Given the description of an element on the screen output the (x, y) to click on. 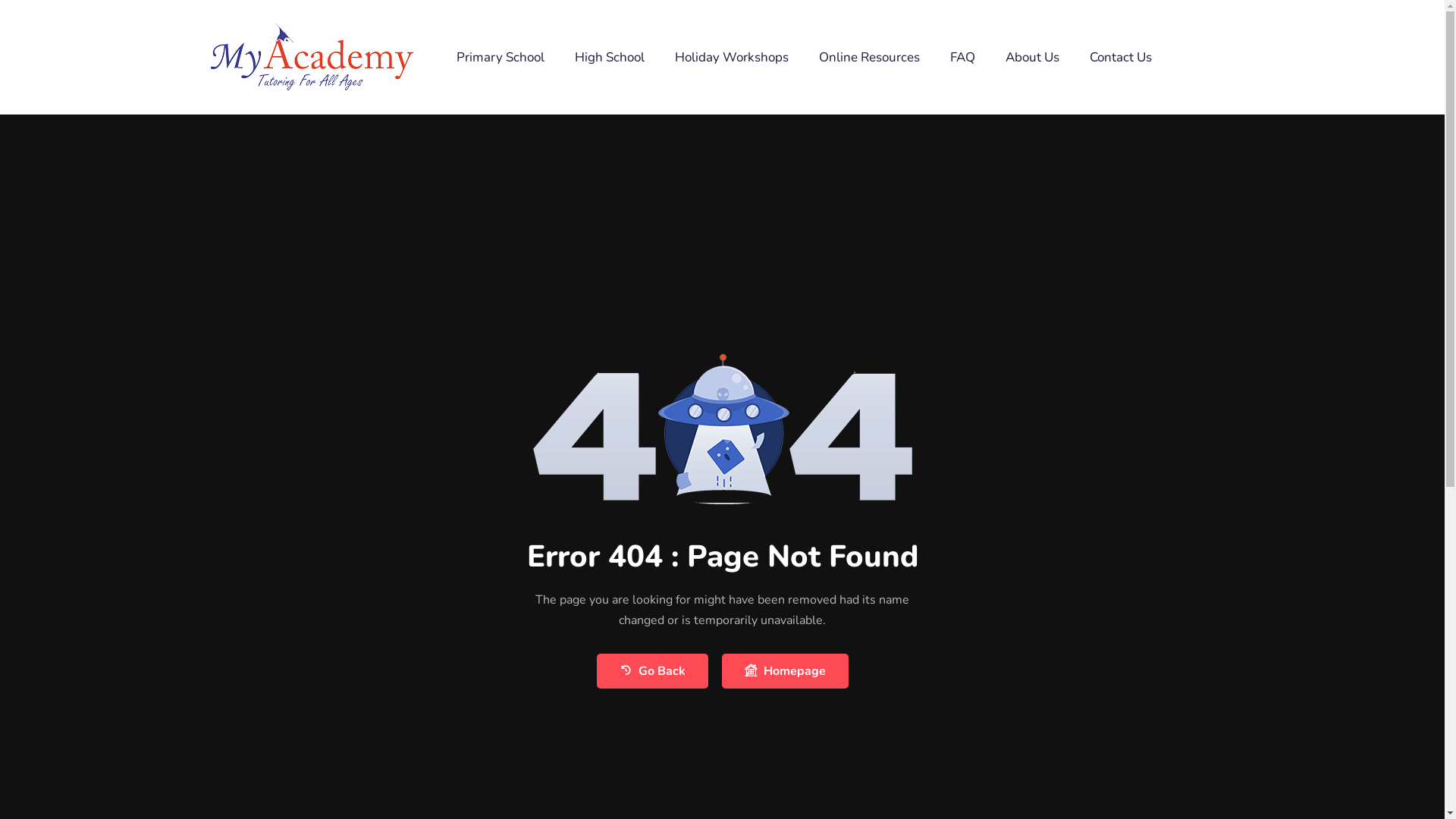
About Us Element type: text (1032, 56)
Go Back Element type: text (651, 670)
Homepage Element type: text (784, 670)
Online Resources Element type: text (869, 56)
FAQ Element type: text (962, 56)
Holiday Workshops Element type: text (731, 56)
Primary School Element type: text (500, 56)
High School Element type: text (609, 56)
Contact Us Element type: text (1120, 56)
